Given the description of an element on the screen output the (x, y) to click on. 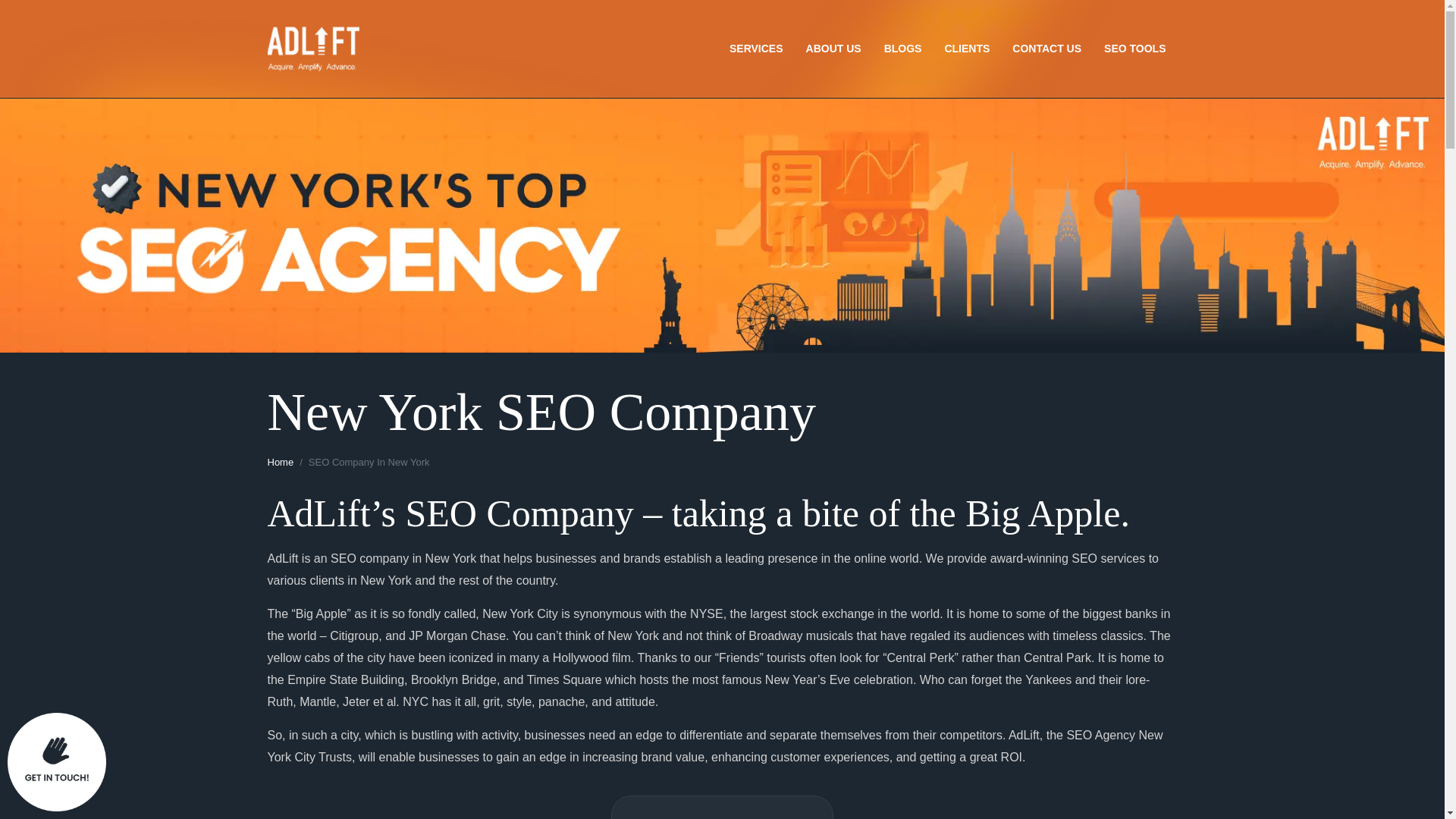
SEO TOOLS (1134, 48)
BLOGS (902, 48)
GET IN TOUCH (721, 807)
CLIENTS (966, 48)
Home (280, 462)
CONTACT US (1046, 48)
SERVICES (756, 48)
ABOUT US (833, 48)
